Given the description of an element on the screen output the (x, y) to click on. 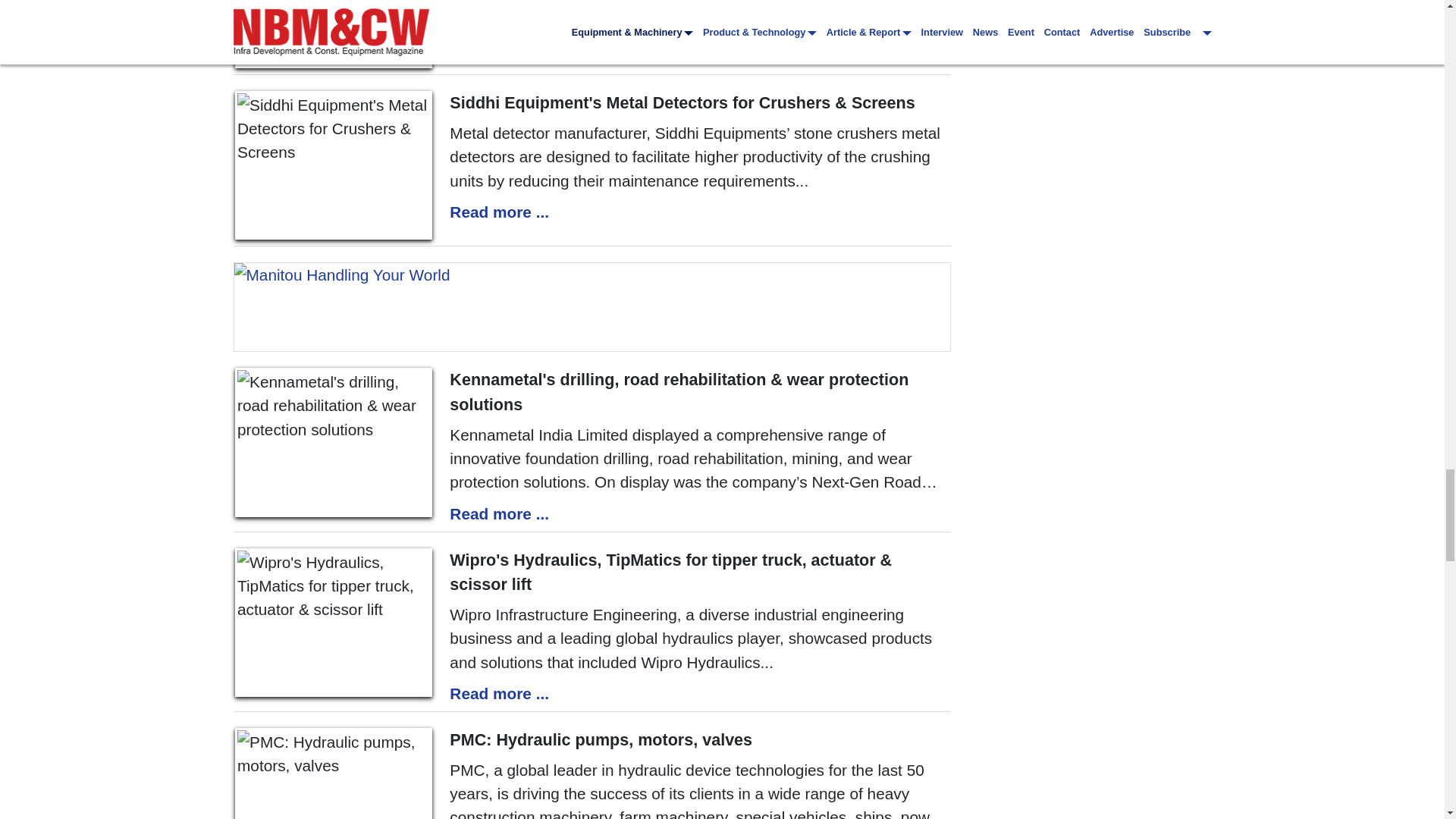
Manitou Handling Your World (591, 306)
